Given the description of an element on the screen output the (x, y) to click on. 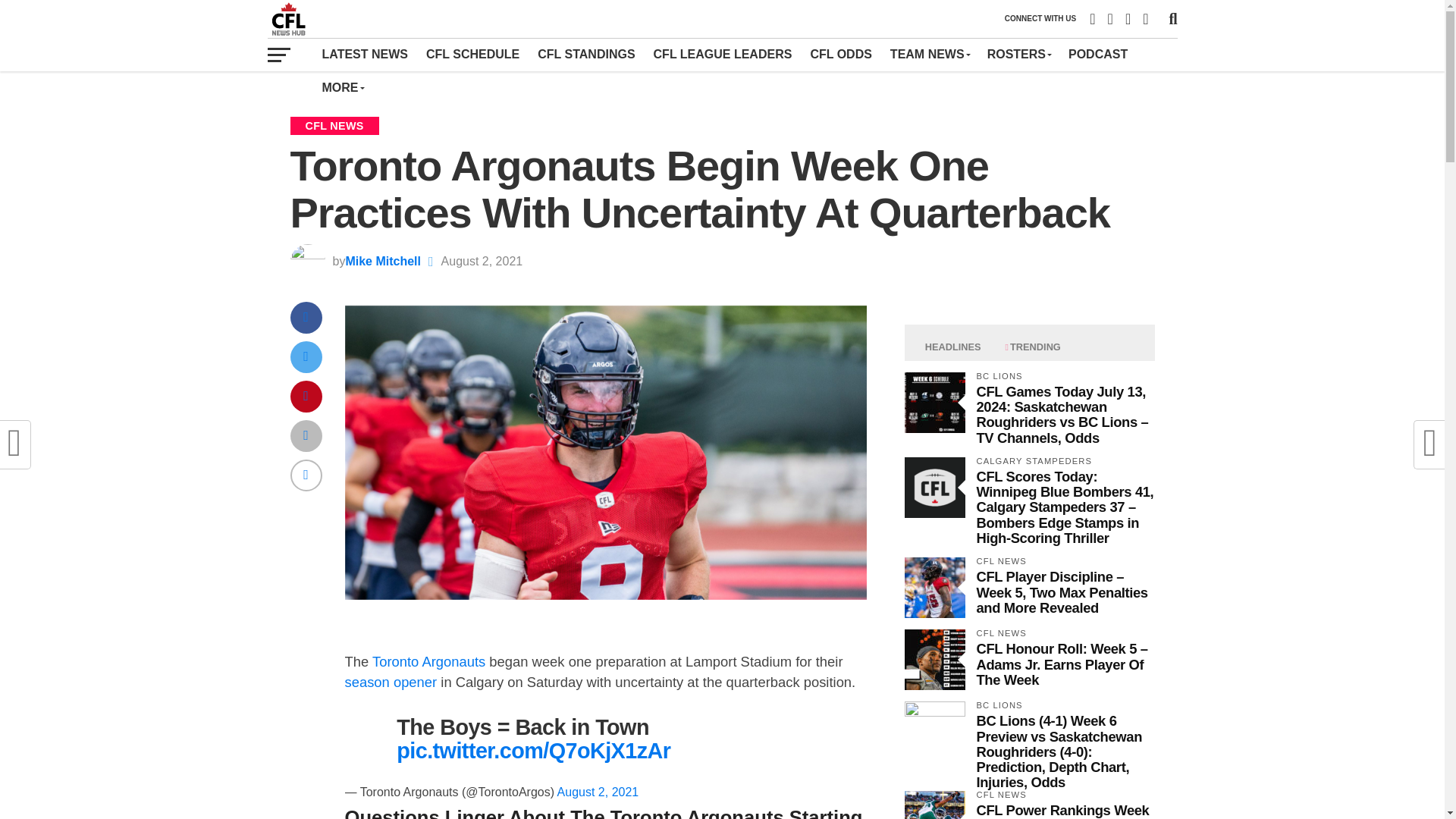
cfl - CFL News Hub (933, 487)
CFL WK 2 Power Rankings Photo Courtesy of CFL - CFL News Hub (933, 805)
Tobias-Harris - CFL News Hub (933, 587)
Honour-Roll-week-5 - CFL News Hub (933, 659)
BC v SSK W6 - CFL News Hub (933, 731)
W6 - CFL News Hub (933, 402)
Posts by Mike Mitchell (382, 260)
